Given the description of an element on the screen output the (x, y) to click on. 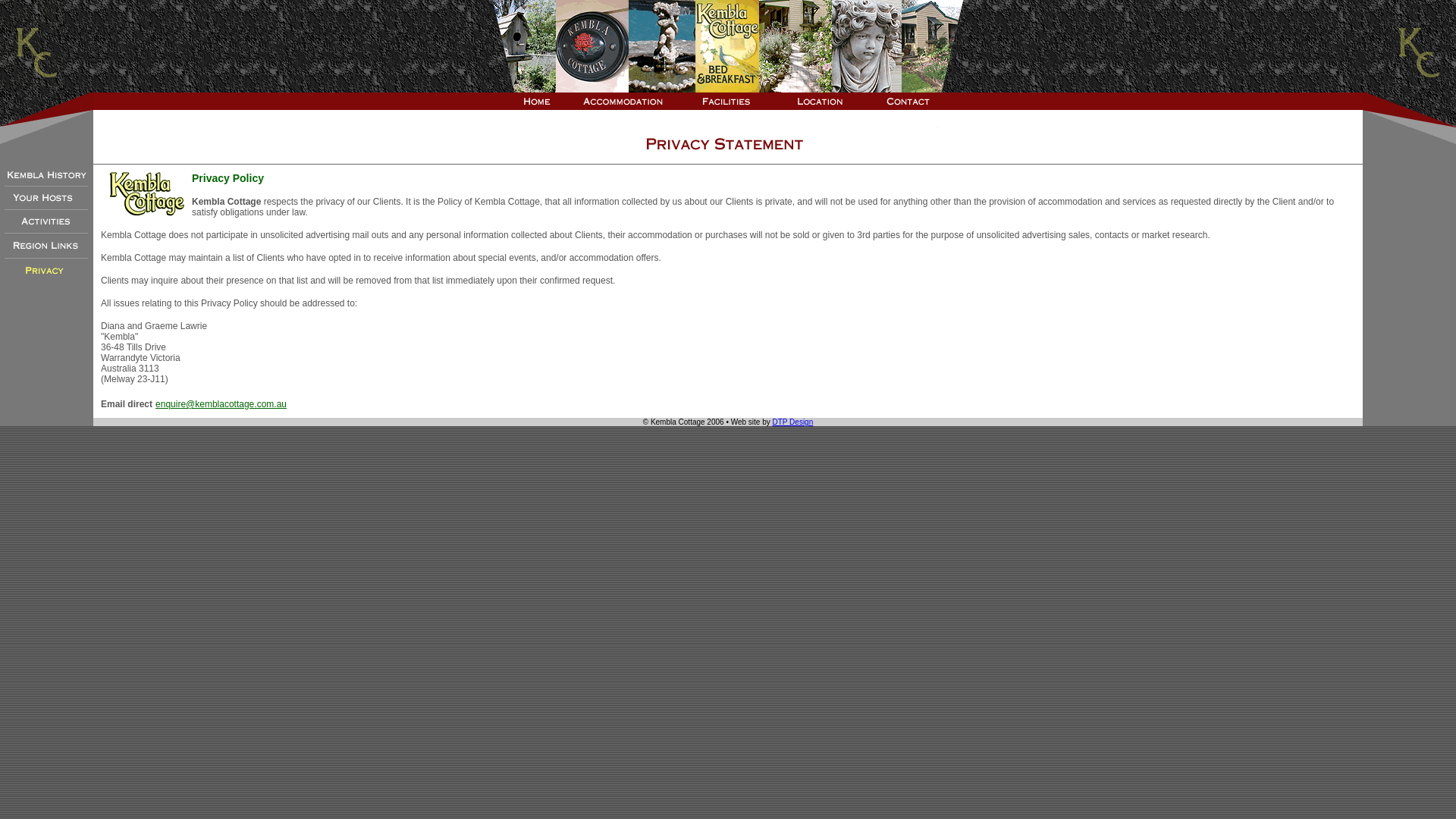
enquire@kemblacottage.com.au Element type: text (220, 403)
DTP Design Element type: text (792, 421)
